Given the description of an element on the screen output the (x, y) to click on. 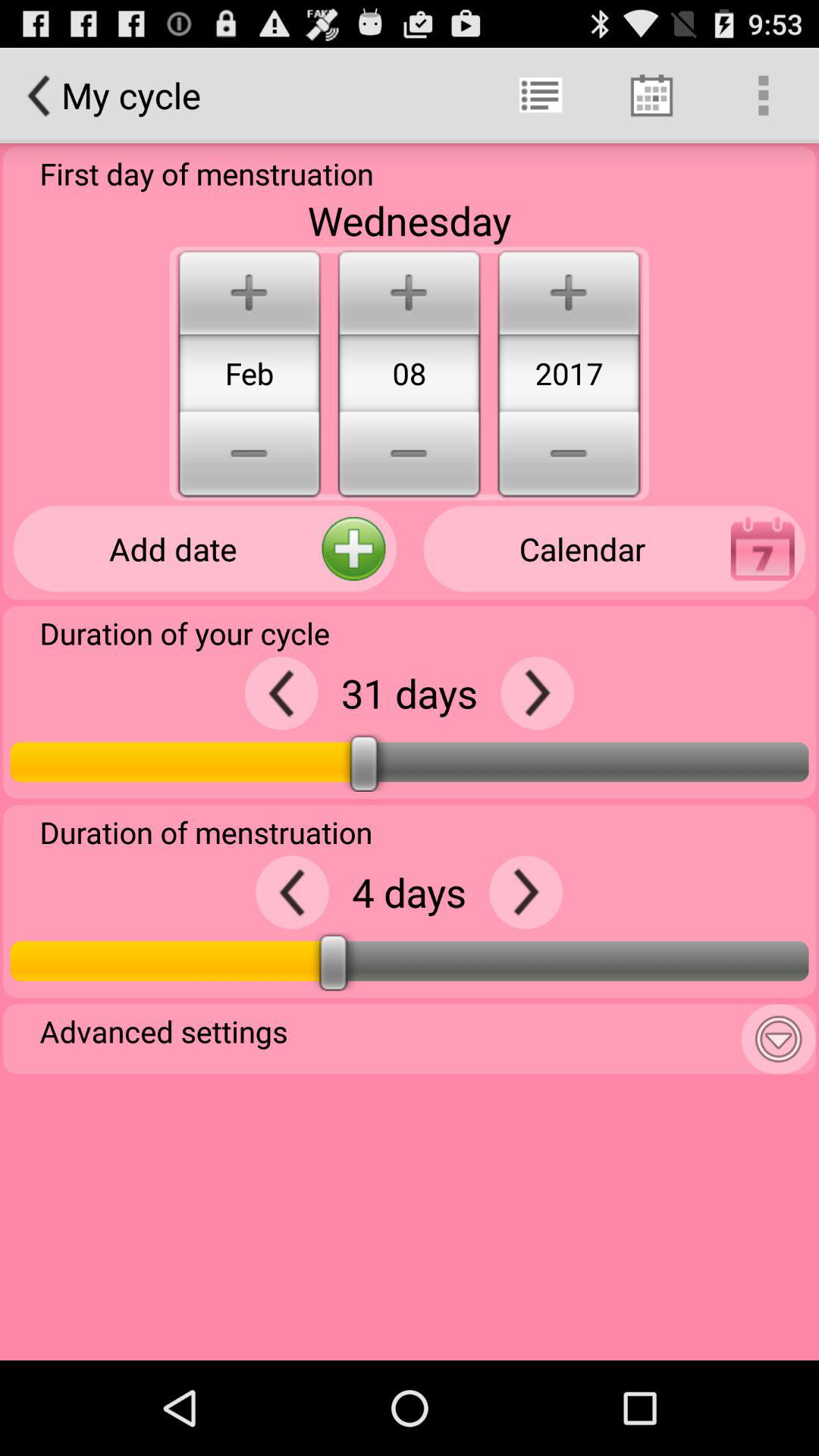
view more settings (778, 1039)
